Given the description of an element on the screen output the (x, y) to click on. 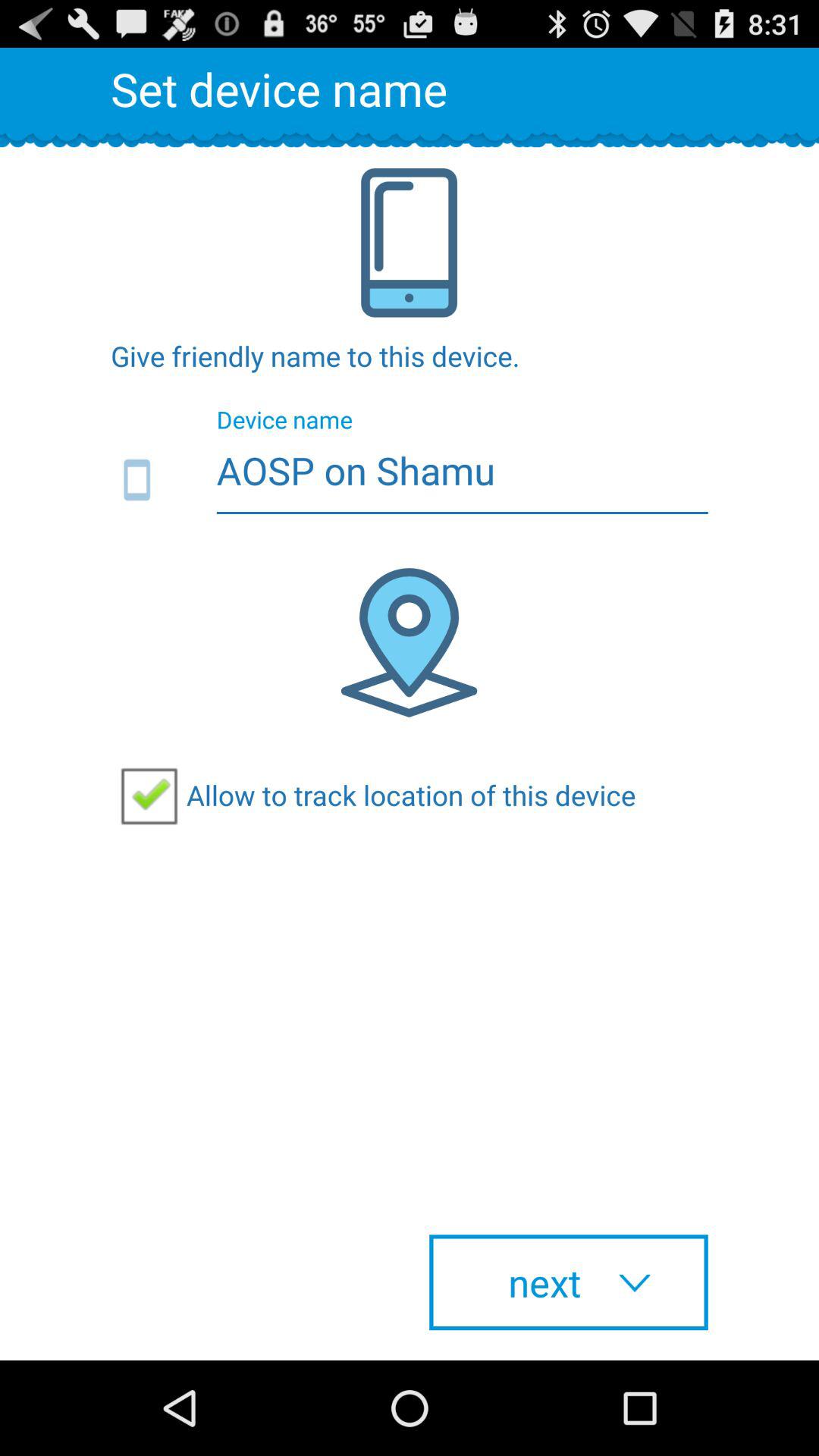
choose the icon below the give friendly name app (409, 480)
